Given the description of an element on the screen output the (x, y) to click on. 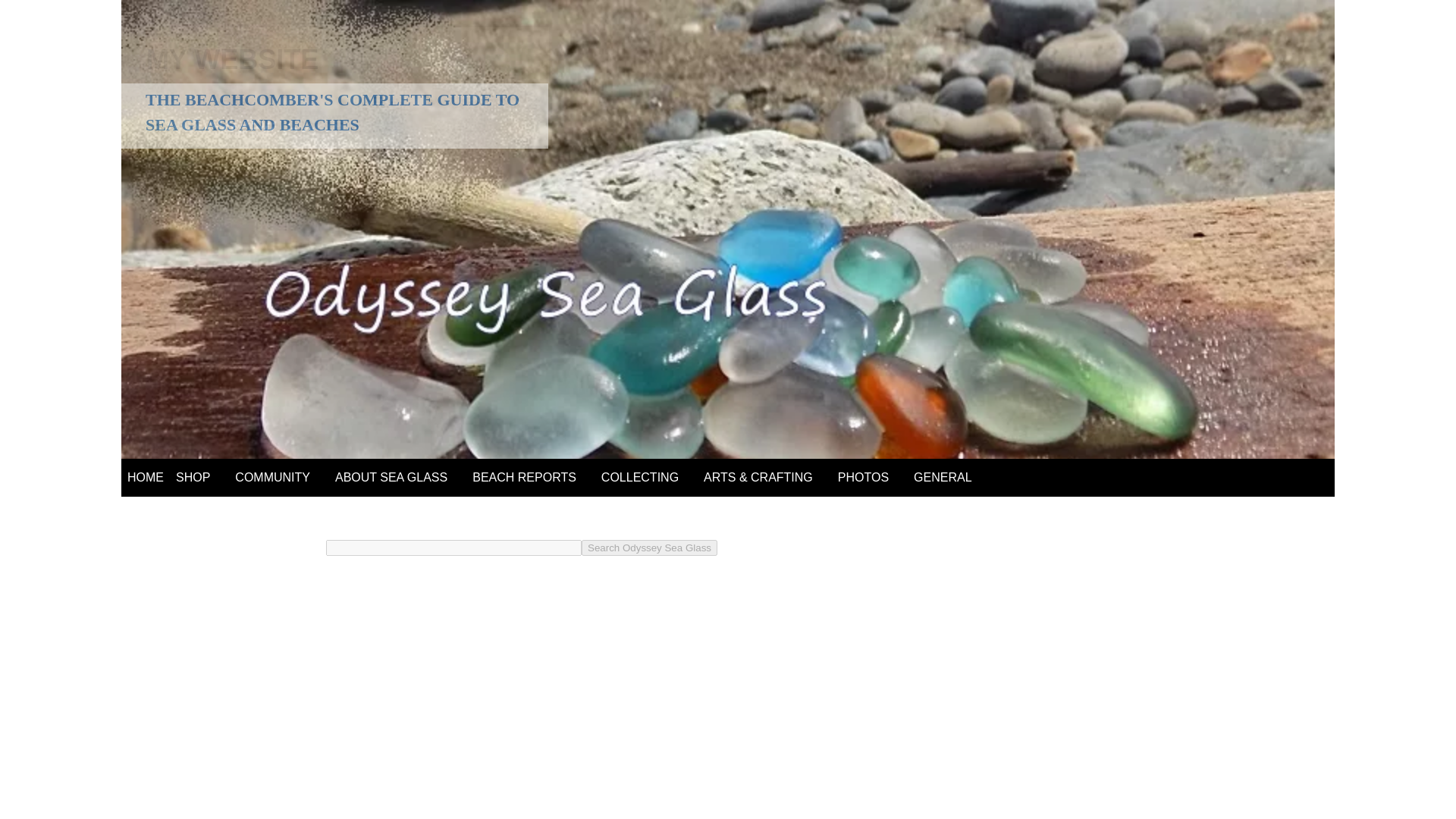
HOME (145, 477)
Search Odyssey Sea Glass (648, 547)
MY WEBSITE (232, 59)
SHOP (192, 477)
